Given the description of an element on the screen output the (x, y) to click on. 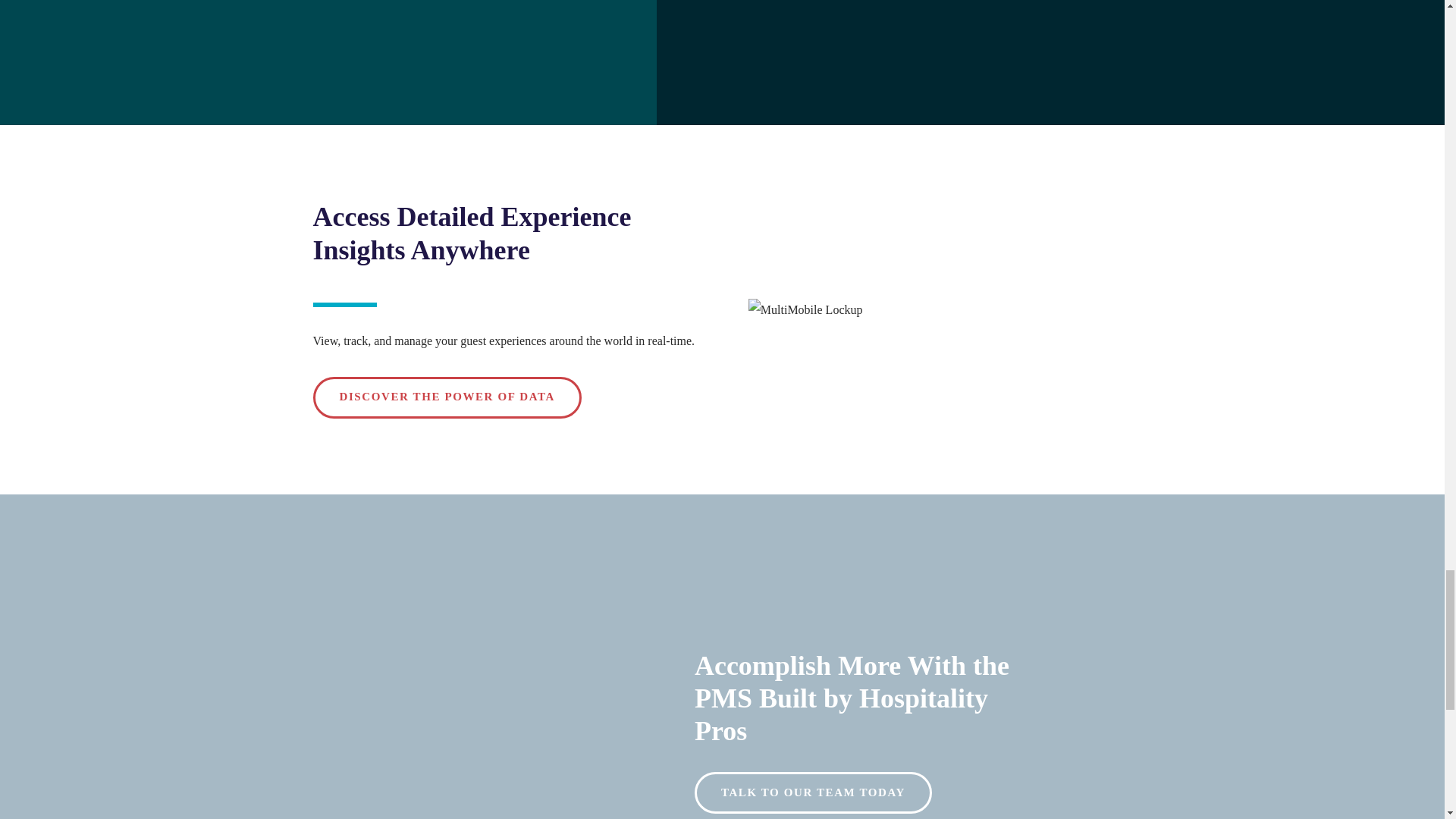
TALK TO OUR TEAM TODAY (812, 793)
DISCOVER THE POWER OF DATA (446, 397)
MultiMobile Lockup (805, 309)
